Given the description of an element on the screen output the (x, y) to click on. 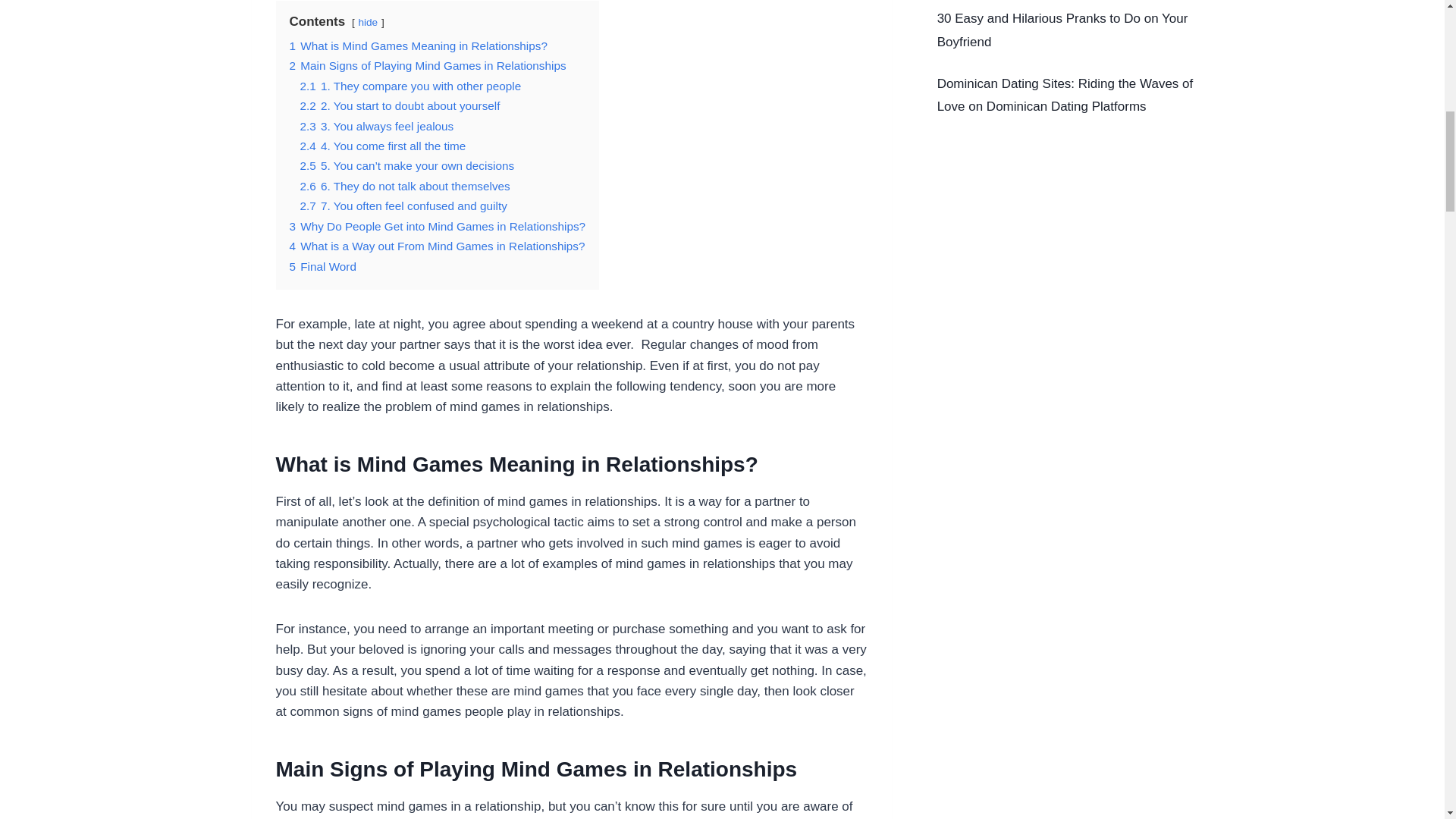
2.2 2. You start to doubt about yourself (399, 105)
2.6 6. They do not talk about themselves (405, 185)
2 Main Signs of Playing Mind Games in Relationships (427, 65)
5 Final Word (322, 266)
hide (367, 21)
2.3 3. You always feel jealous (376, 125)
2.4 4. You come first all the time (382, 145)
2.1 1. They compare you with other people (410, 85)
4 What is a Way out From Mind Games in Relationships? (437, 245)
3 Why Do People Get into Mind Games in Relationships? (437, 226)
